Given the description of an element on the screen output the (x, y) to click on. 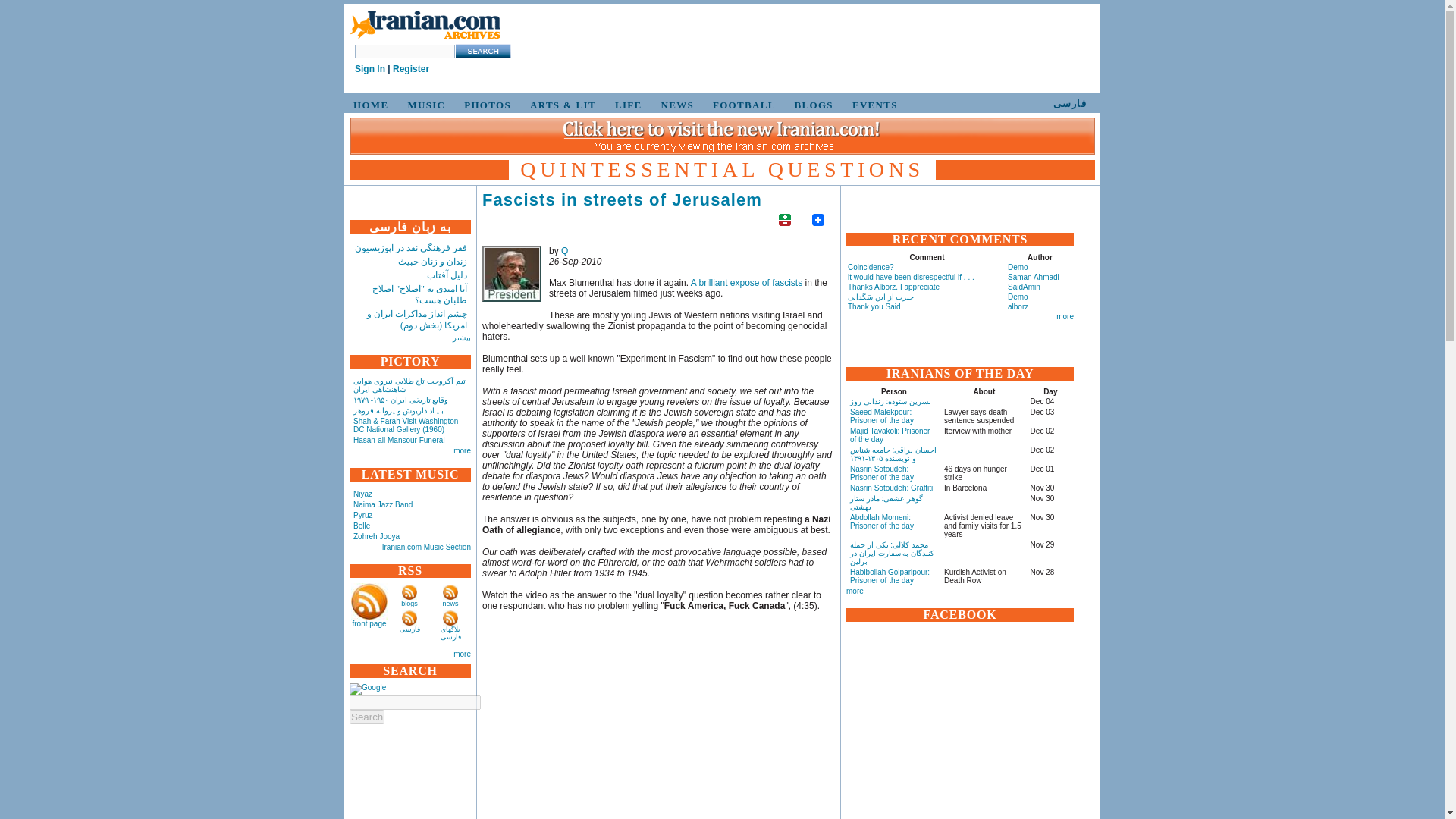
Pyruz (362, 515)
Hasan-ali Mansour Funeral (399, 439)
LIFE (625, 105)
Register (411, 68)
front page (368, 623)
more (461, 450)
PHOTOS (484, 105)
Home (424, 25)
Zohreh Jooya (375, 536)
Home (424, 40)
